Given the description of an element on the screen output the (x, y) to click on. 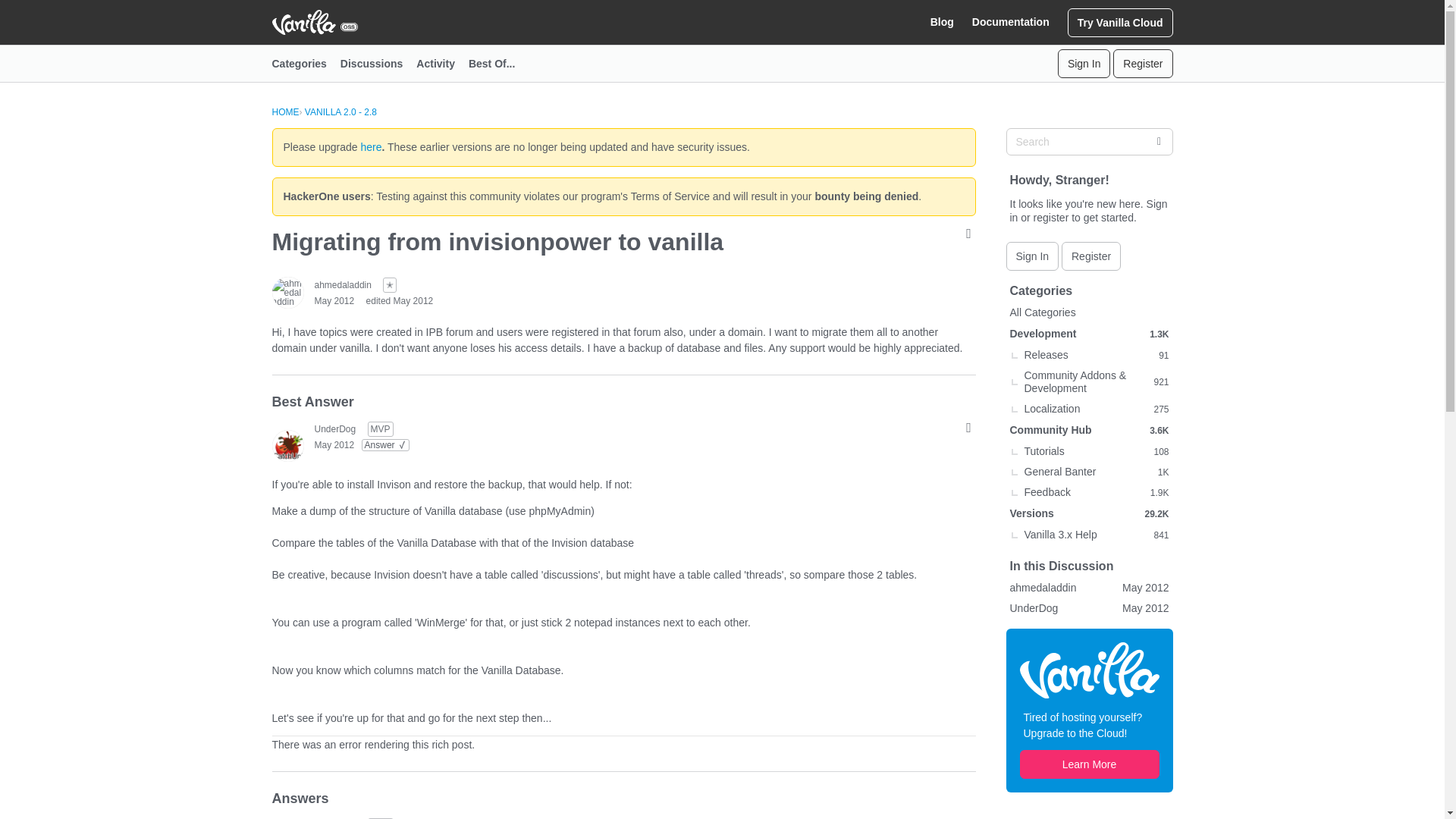
Discussions (378, 63)
VANILLA 2.0 - 2.8 (340, 112)
UnderDog (334, 427)
Activity (442, 63)
Go (1158, 141)
May 2012 (333, 300)
Register (1142, 63)
Documentation (1011, 22)
Level 1 (389, 284)
May 3, 2012 4:34AM (333, 444)
ahmedaladdin (286, 292)
ahmedaladdin (342, 284)
Try Vanilla Cloud (1120, 21)
Edited May 2, 2012 10:38AM by ahmedaladdin. (399, 300)
HOME (284, 112)
